Given the description of an element on the screen output the (x, y) to click on. 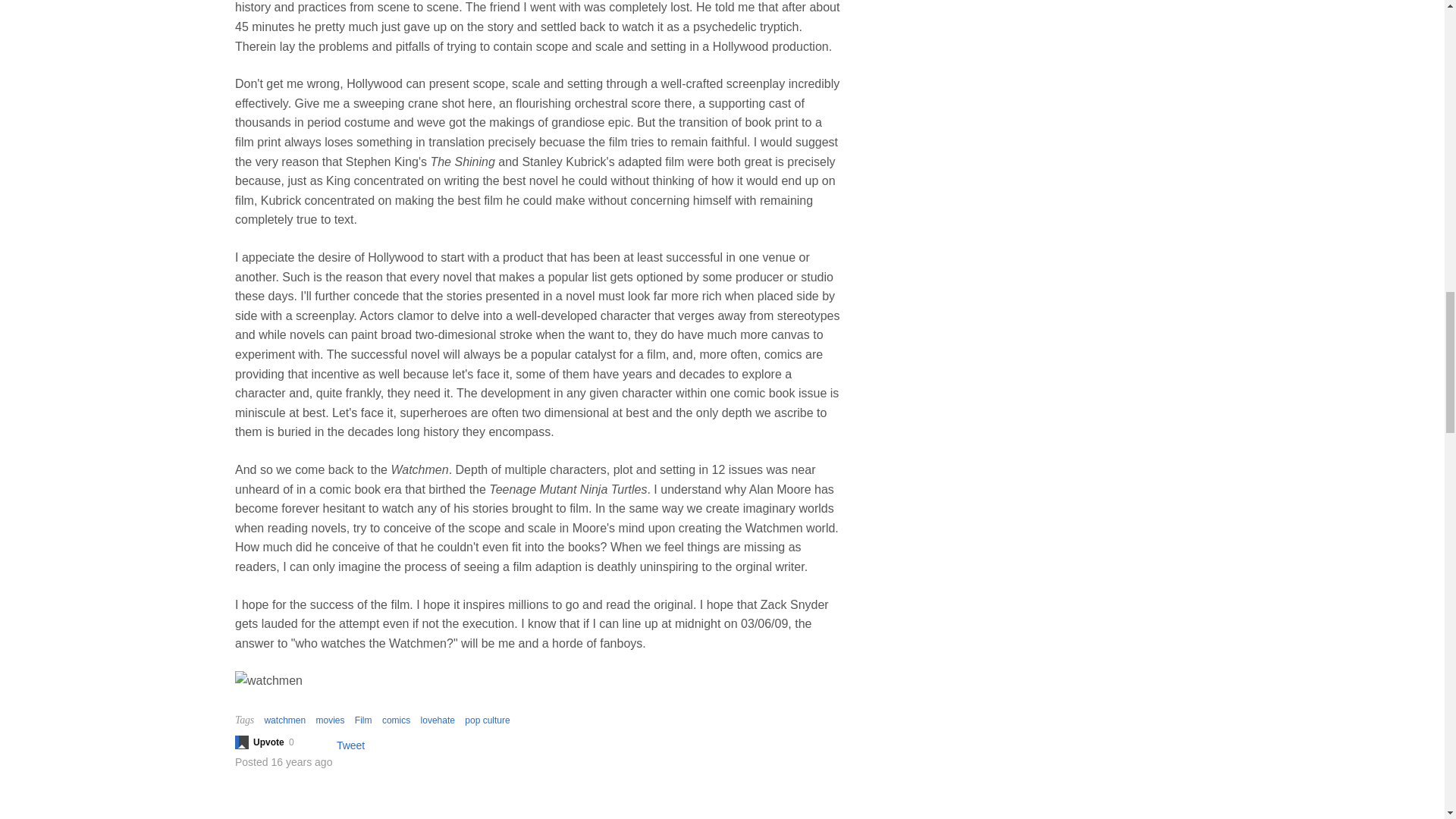
Tweet (350, 745)
pop culture (486, 719)
comics (395, 719)
watchmen (284, 719)
16 years ago (300, 761)
lovehate (437, 719)
movies (329, 719)
UpVote 0 (270, 742)
Film (363, 719)
